Given the description of an element on the screen output the (x, y) to click on. 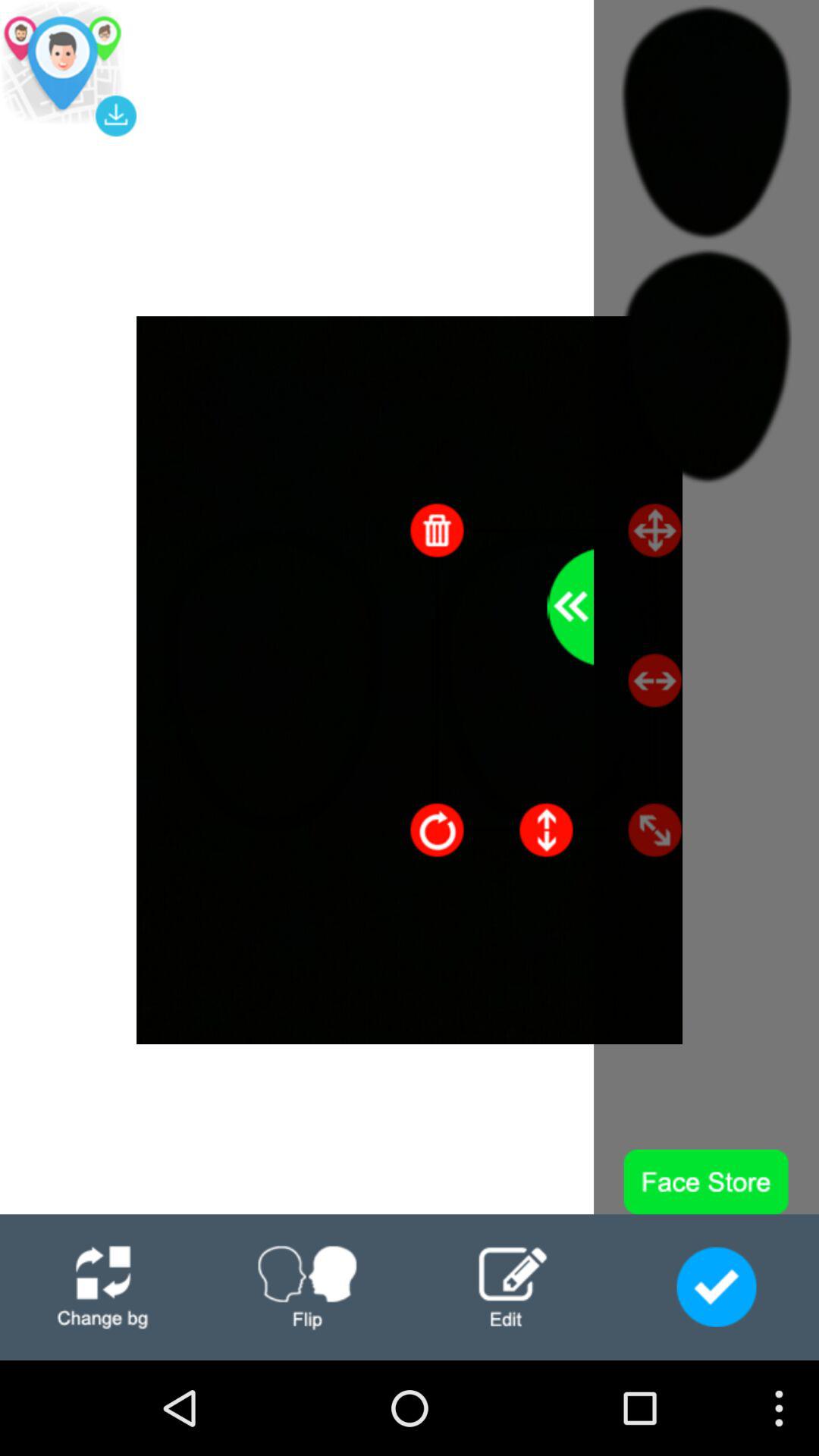
flip option (306, 1287)
